Given the description of an element on the screen output the (x, y) to click on. 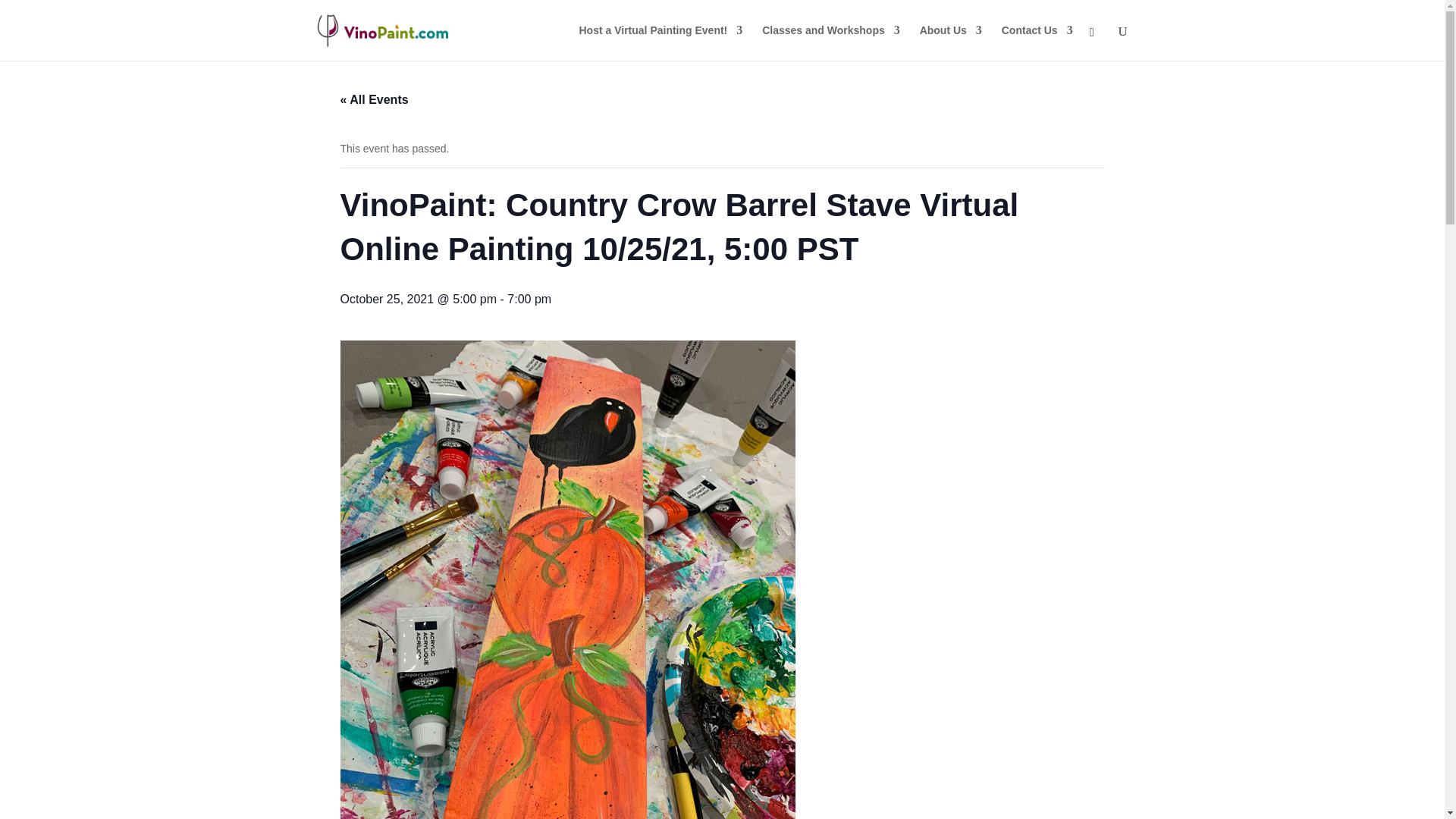
Classes and Workshops (830, 42)
Host a Virtual Painting Event! (660, 42)
About Us (950, 42)
Contact Us (1037, 42)
